Given the description of an element on the screen output the (x, y) to click on. 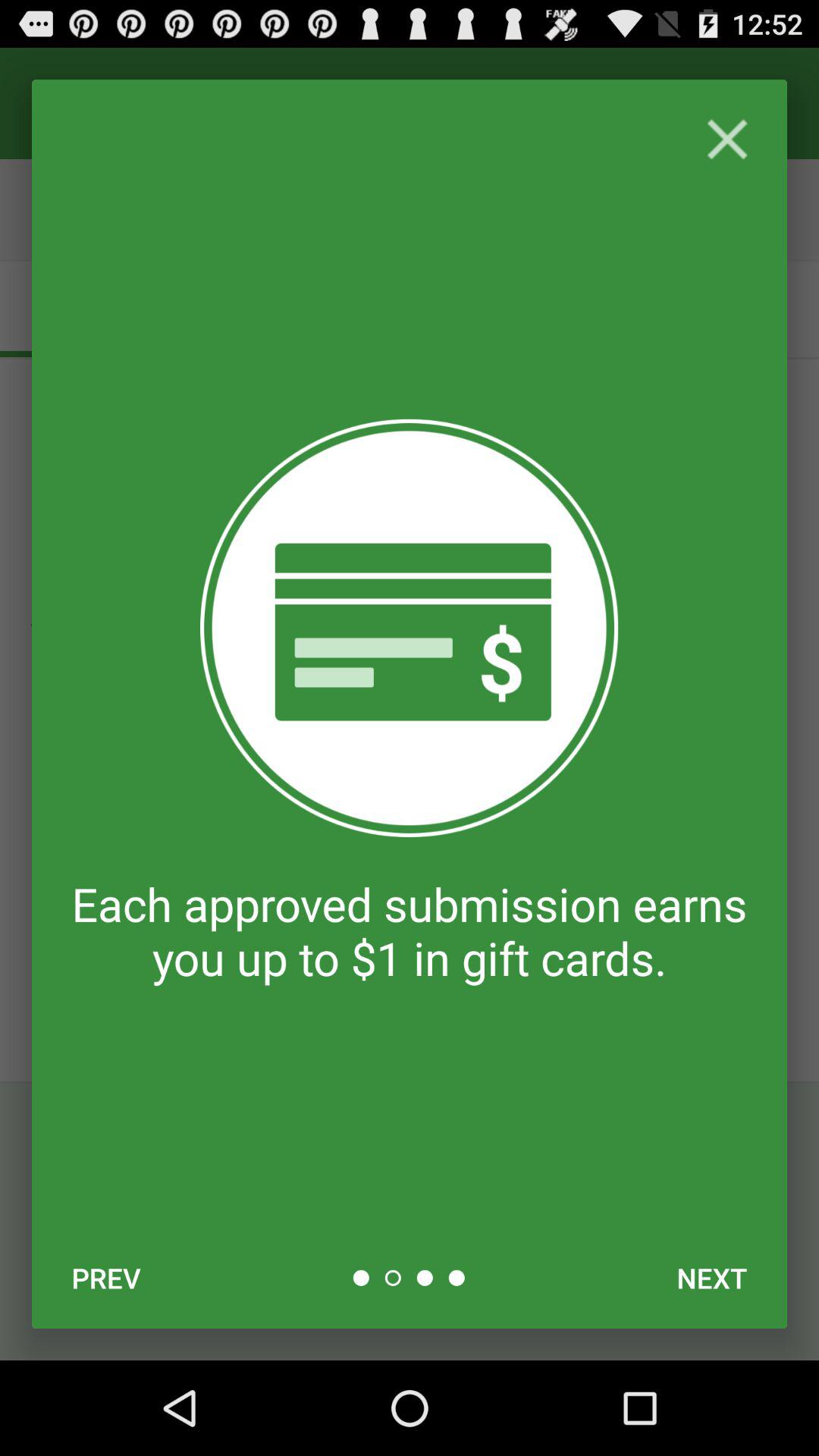
jump to the next item (711, 1277)
